Given the description of an element on the screen output the (x, y) to click on. 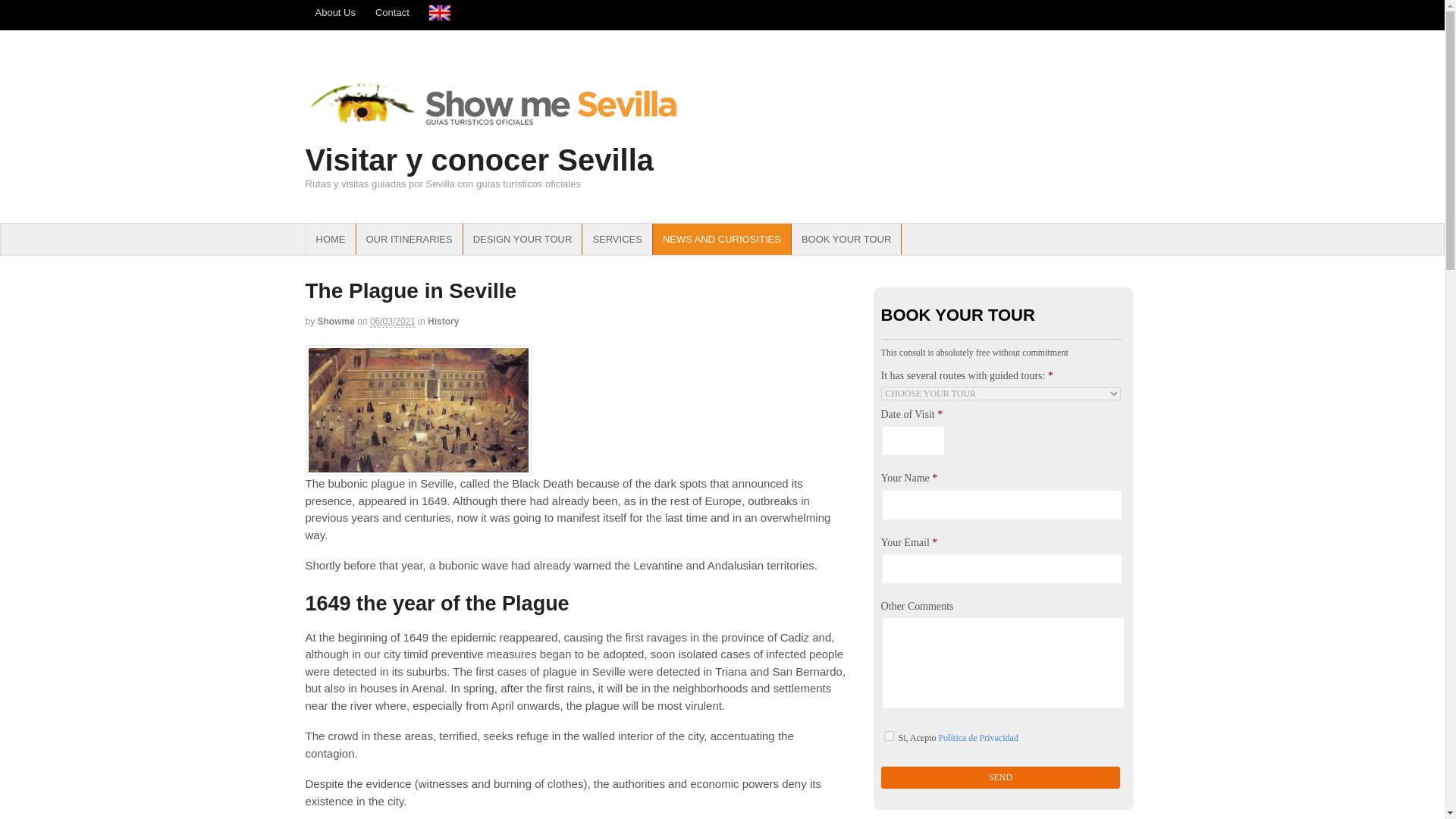
SEND (1000, 777)
Visitar y conocer Sevilla (478, 159)
SERVICES (617, 239)
Posts by Showme (336, 321)
DESIGN YOUR TOUR (522, 239)
SEND (1000, 777)
About Us (334, 12)
OUR ITINERARIES (409, 239)
BOOK YOUR TOUR (846, 239)
on (888, 736)
Showme (336, 321)
HOME (330, 239)
View all items in History (443, 321)
NEWS AND CURIOSITIES (721, 239)
History (443, 321)
